Given the description of an element on the screen output the (x, y) to click on. 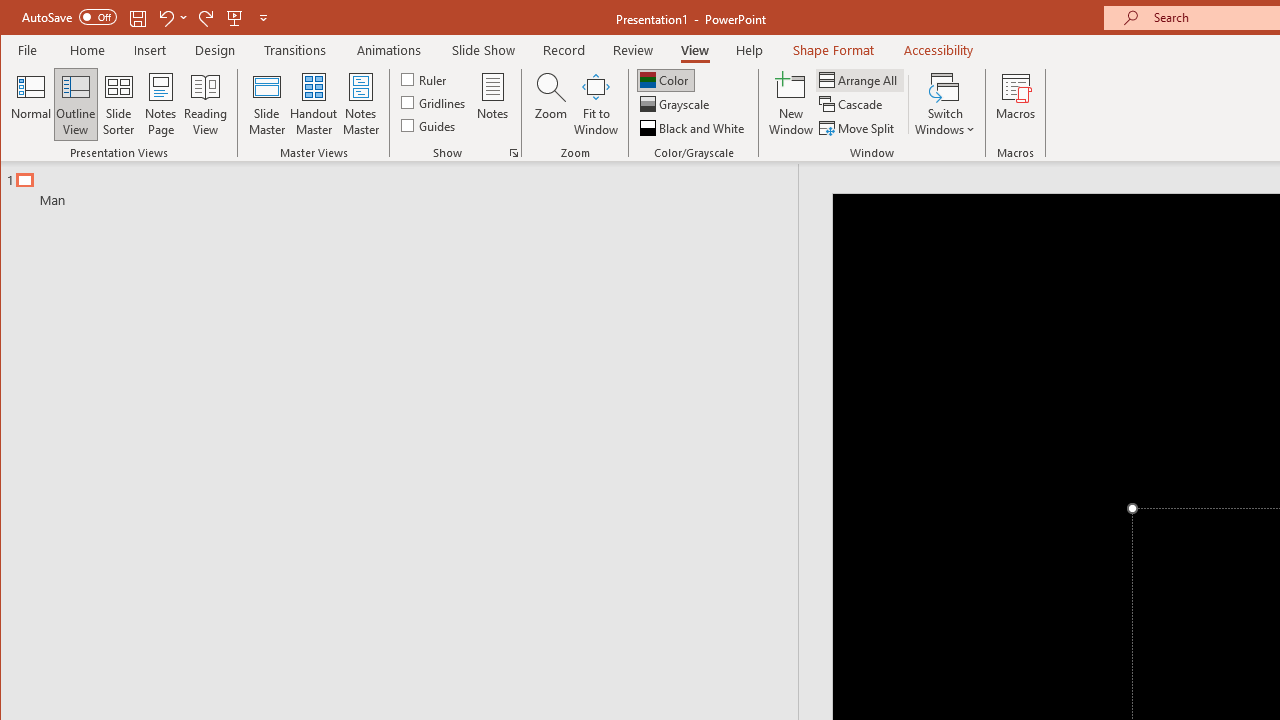
Notes (493, 104)
Switch Windows (944, 104)
Slide Master (266, 104)
Macros (1016, 104)
Black and White (694, 127)
